Given the description of an element on the screen output the (x, y) to click on. 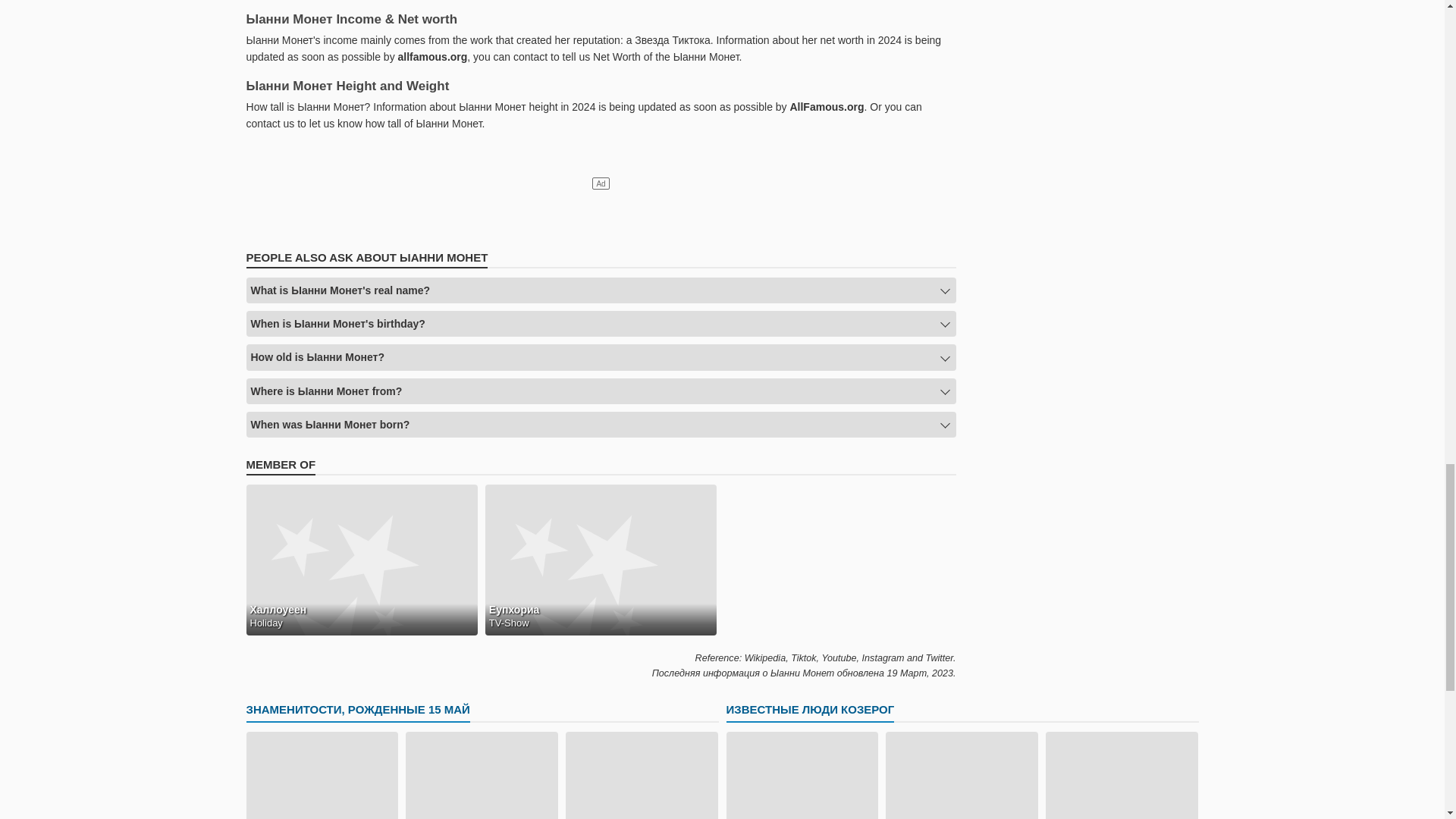
Halloween (361, 559)
Euphoria (600, 559)
